Given the description of an element on the screen output the (x, y) to click on. 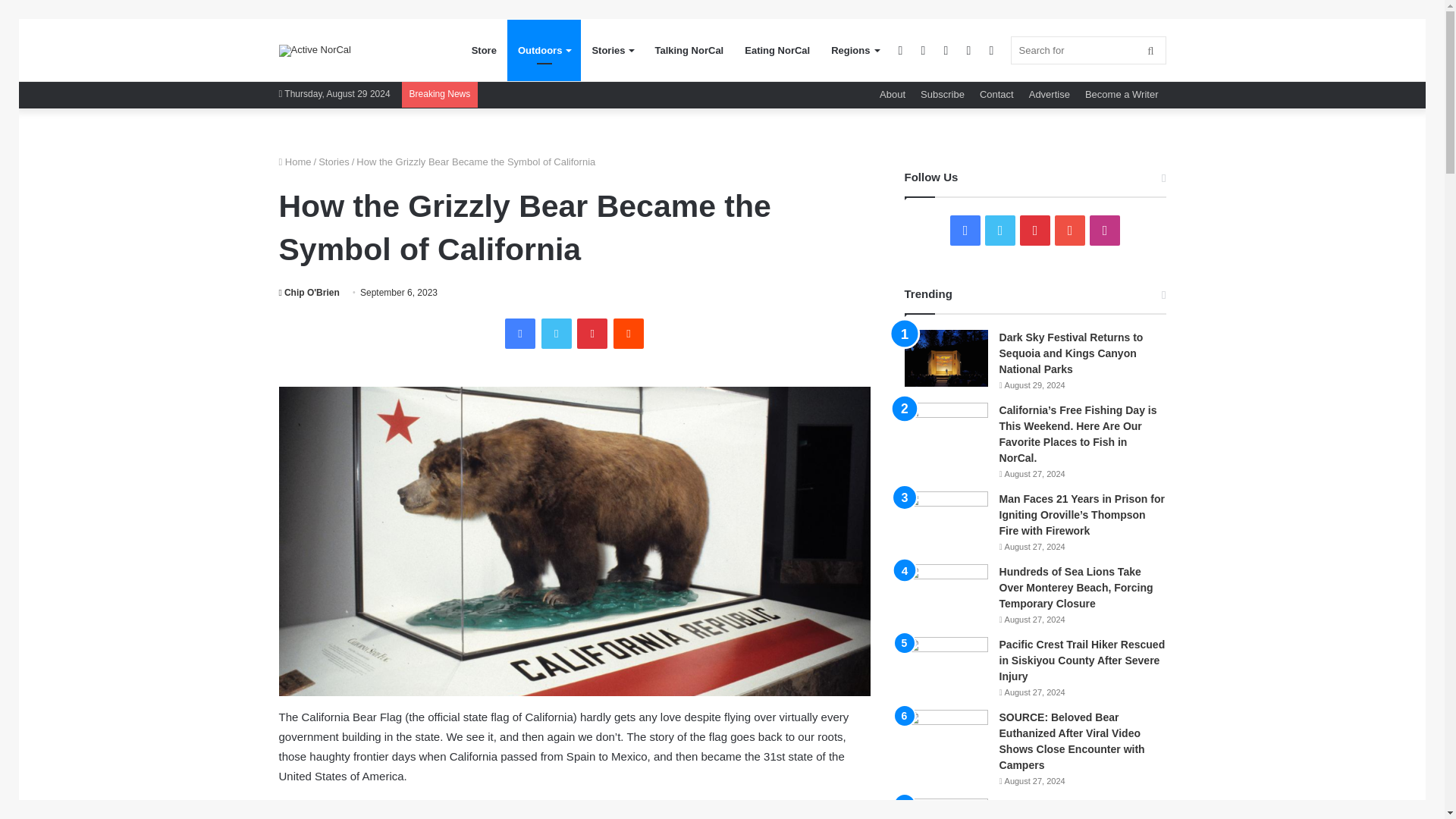
Talking NorCal (688, 50)
Eating NorCal (777, 50)
Regions (854, 50)
Reddit (627, 333)
Twitter (556, 333)
Facebook (520, 333)
Search for (1088, 50)
Pinterest (591, 333)
Active NorCal (314, 50)
Outdoors (543, 50)
